Given the description of an element on the screen output the (x, y) to click on. 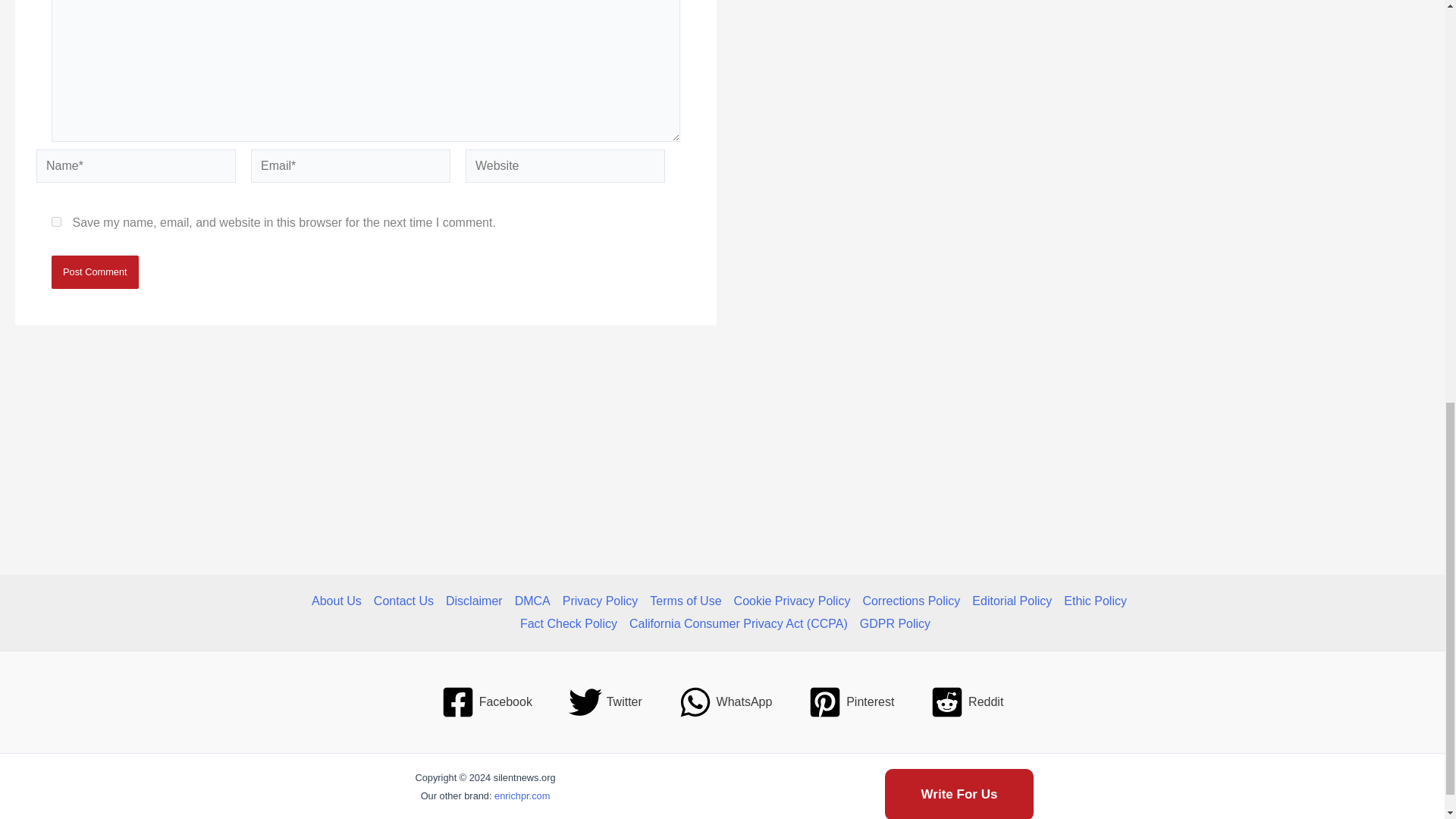
yes (55, 221)
Contact Us (403, 600)
Post Comment (94, 272)
Post Comment (94, 272)
Disclaimer (473, 600)
About Us (339, 600)
